Given the description of an element on the screen output the (x, y) to click on. 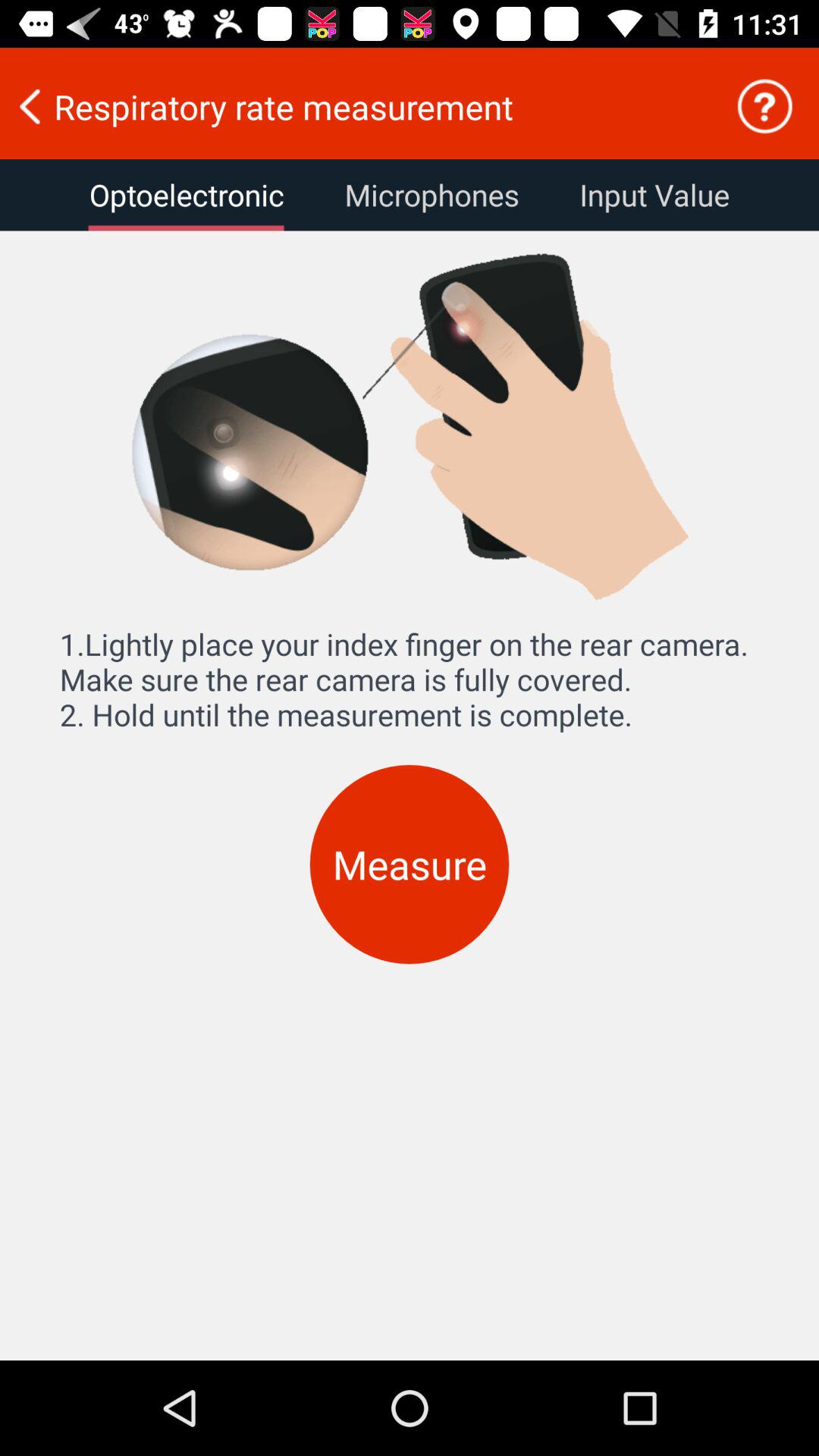
swipe to microphones item (431, 194)
